Given the description of an element on the screen output the (x, y) to click on. 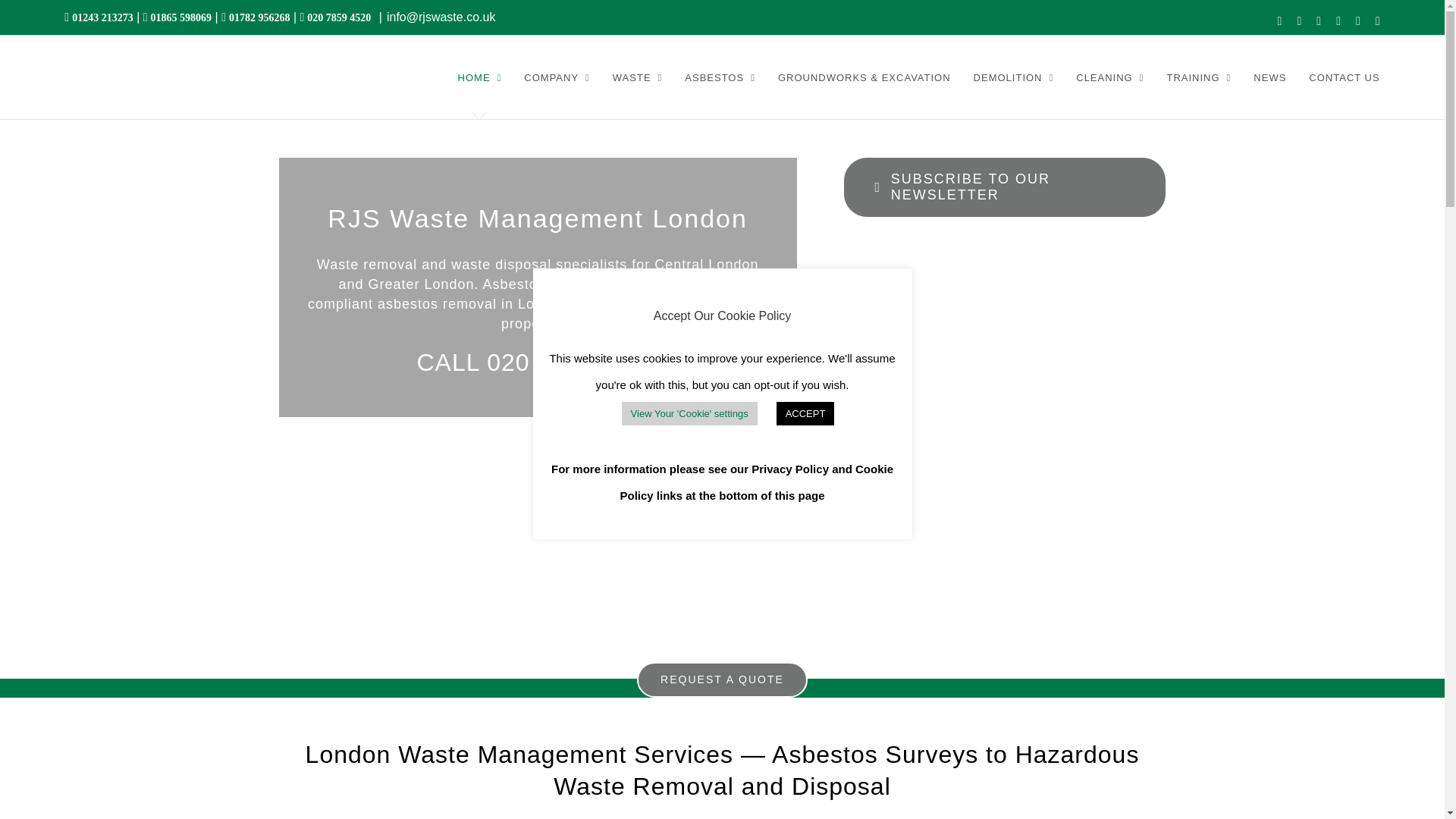
Tiktok (1357, 21)
Facebook (1280, 21)
Email (1377, 21)
Tiktok (1357, 21)
WASTE (637, 77)
01782 956268 (257, 16)
01865 598069 (180, 16)
020 7859 4520 (337, 16)
X (1299, 21)
Instagram (1338, 21)
01243 213273 (100, 16)
COMPANY (556, 77)
X (1299, 21)
LinkedIn (1318, 21)
LinkedIn (1318, 21)
